Given the description of an element on the screen output the (x, y) to click on. 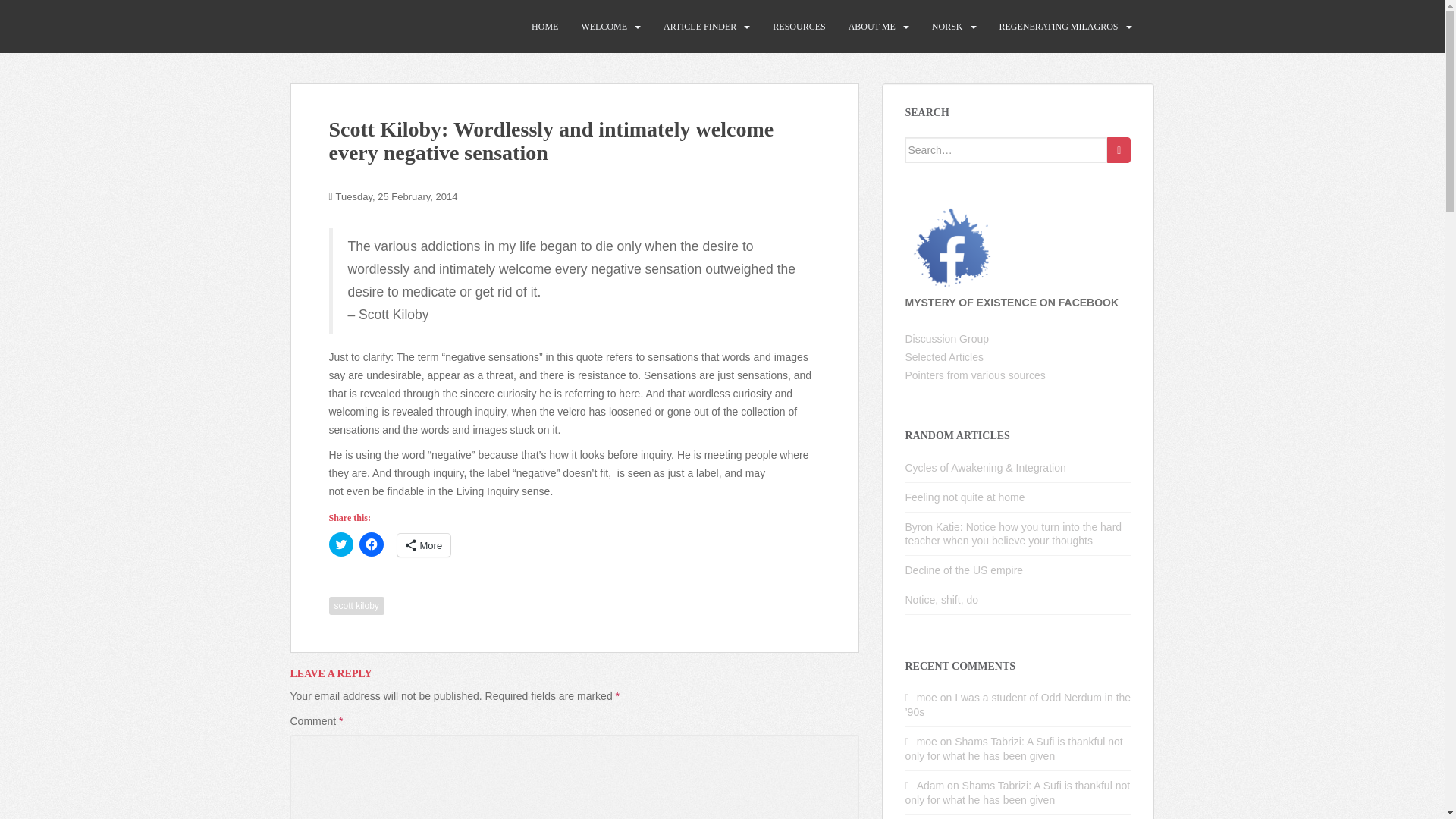
RESOURCES (799, 26)
Click to share on Twitter (341, 544)
Tuesday, 25 February, 2014 (397, 196)
Search for: (1006, 149)
More (424, 544)
REGENERATING MILAGROS (1058, 26)
WELCOME (603, 26)
Click to share on Facebook (371, 544)
scott kiloby (356, 606)
NORSK (946, 26)
Mystery of Existence (368, 26)
ABOUT ME (871, 26)
Mystery of Existence (368, 26)
ARTICLE FINDER (699, 26)
